Given the description of an element on the screen output the (x, y) to click on. 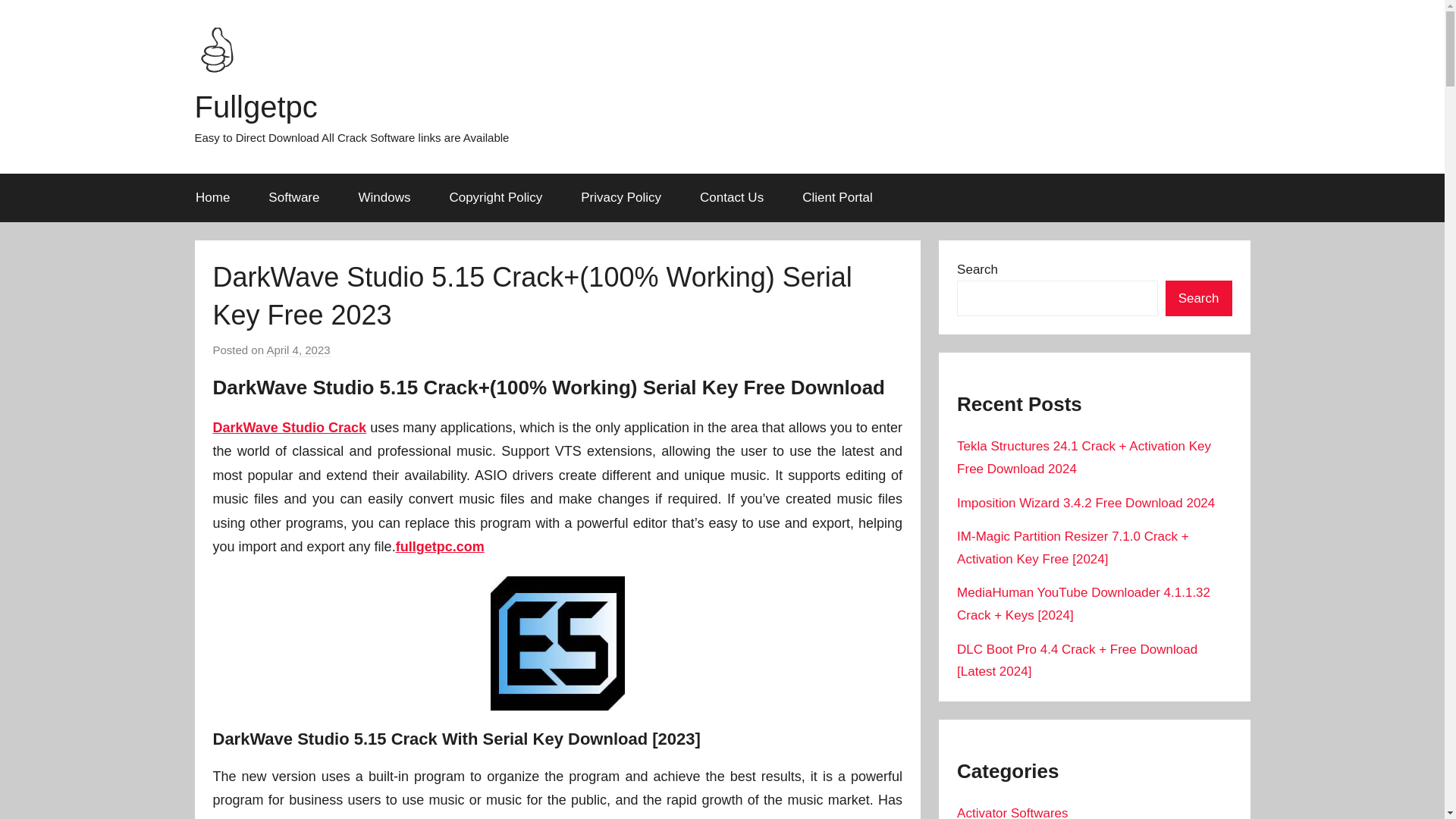
Client Portal (837, 197)
DarkWave Studio Crack (289, 427)
Windows (384, 197)
Copyright Policy (495, 197)
April 4, 2023 (298, 350)
Contact Us (732, 197)
fullgetpc.com (440, 546)
Fullgetpc (255, 105)
Home (212, 197)
Software (293, 197)
Privacy Policy (621, 197)
